Given the description of an element on the screen output the (x, y) to click on. 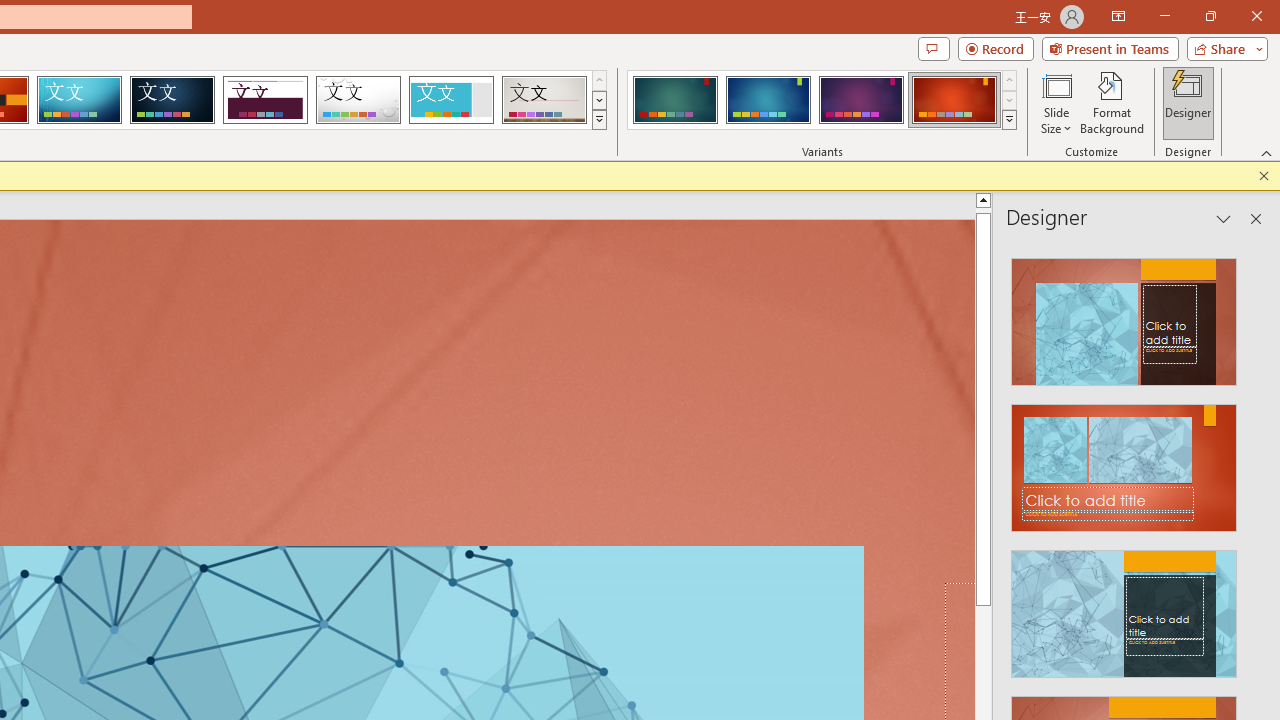
Themes (598, 120)
AutomationID: ThemeVariantsGallery (822, 99)
Slide Size (1056, 102)
Ion Variant 3 (861, 100)
